Given the description of an element on the screen output the (x, y) to click on. 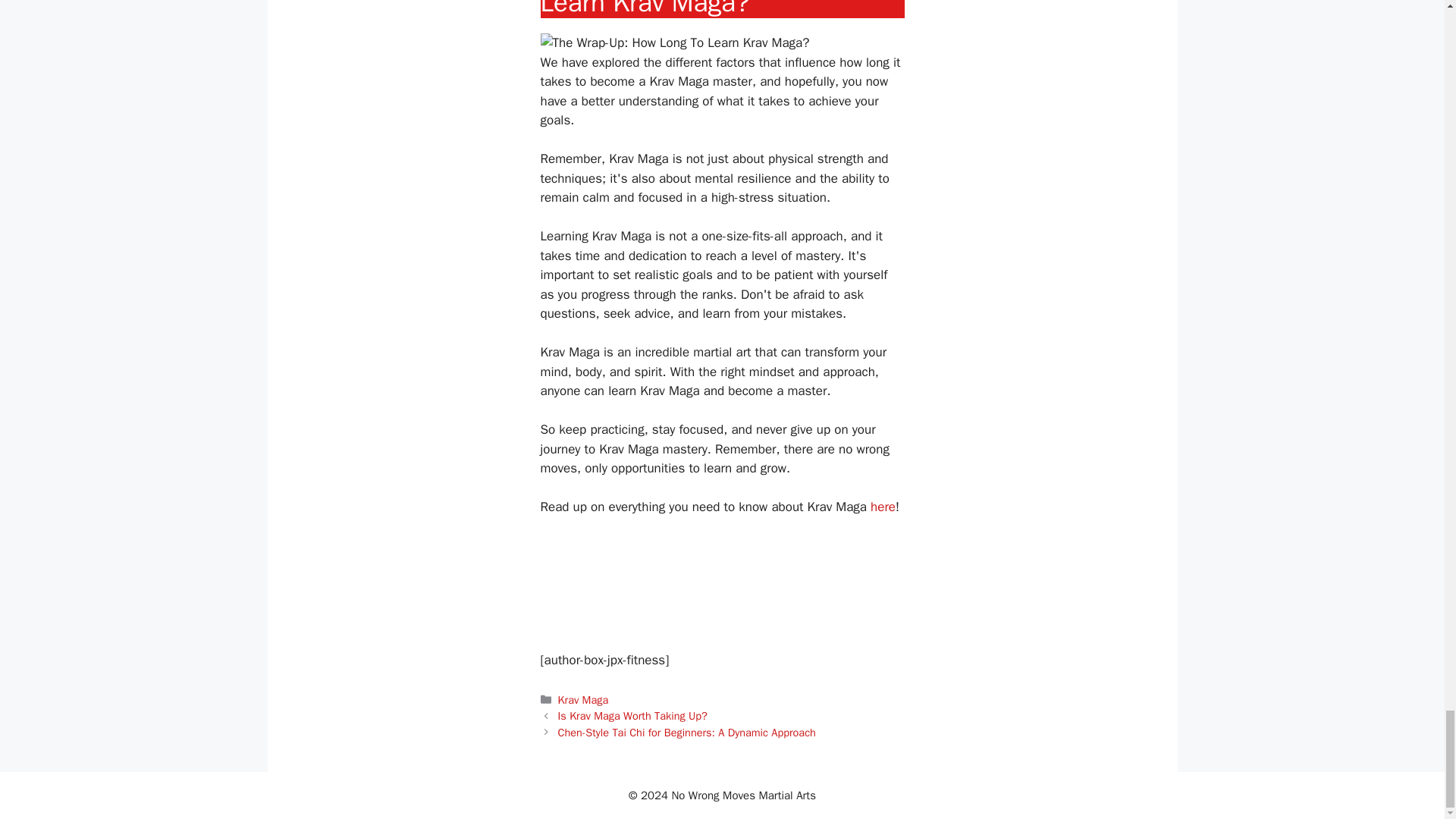
here (882, 506)
Is Krav Maga Worth Taking Up? (632, 715)
Krav Maga (582, 699)
Chen-Style Tai Chi for Beginners: A Dynamic Approach (686, 732)
